Given the description of an element on the screen output the (x, y) to click on. 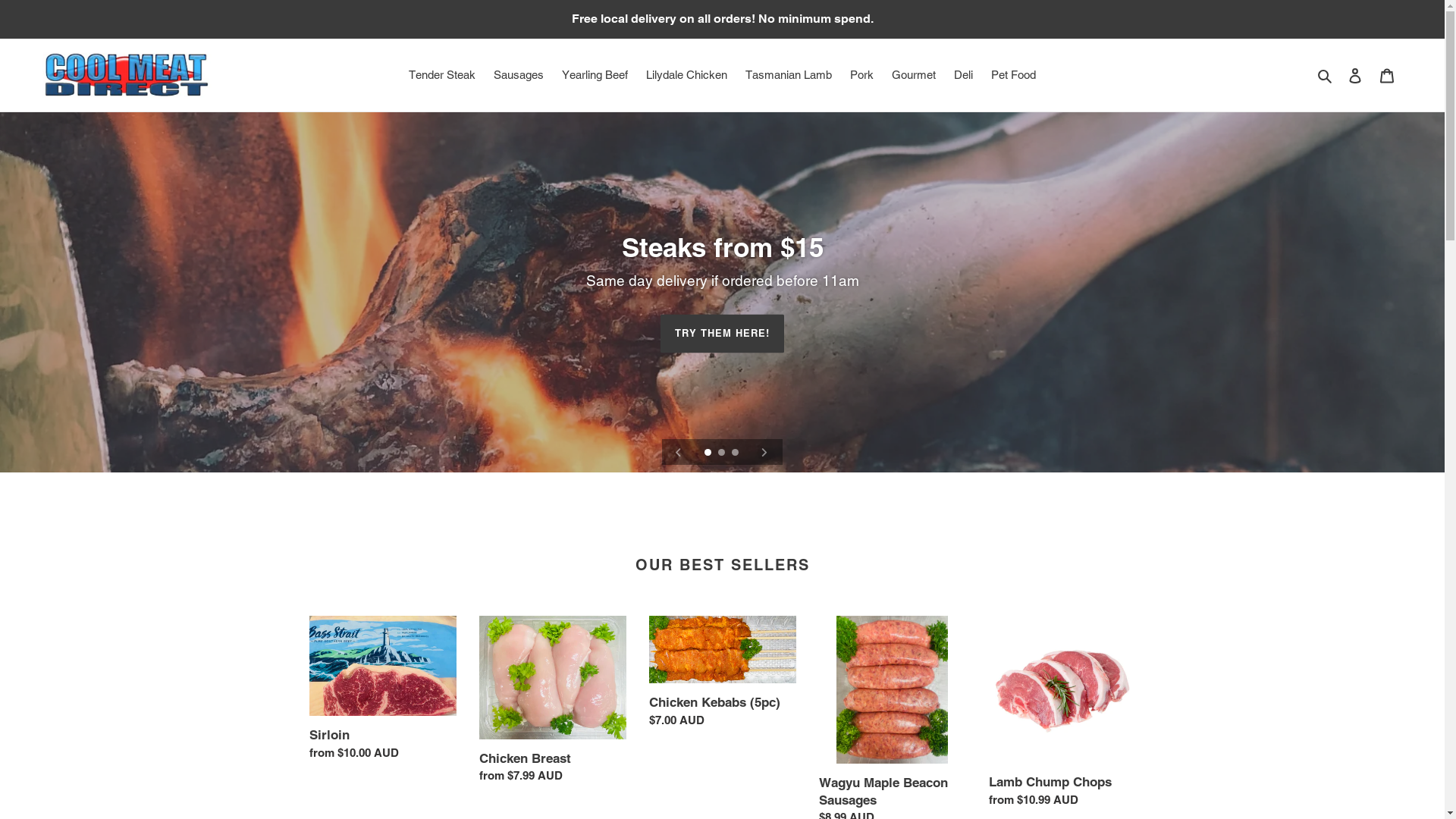
Deli Element type: text (963, 75)
Lamb Chump Chops Element type: text (1061, 714)
Cart Element type: text (1386, 75)
Sausages Element type: text (518, 75)
Gourmet Element type: text (913, 75)
TRY THEM HERE! Element type: text (722, 333)
Pet Food Element type: text (1013, 75)
Chicken Breast Element type: text (552, 702)
Search Element type: text (1325, 74)
Tasmanian Lamb Element type: text (788, 75)
Log in Element type: text (1355, 75)
Lilydale Chicken Element type: text (686, 75)
Tender Steak Element type: text (442, 75)
Sirloin Element type: text (382, 691)
Chicken Kebabs (5pc) Element type: text (722, 674)
Yearling Beef Element type: text (594, 75)
Pork Element type: text (861, 75)
